Given the description of an element on the screen output the (x, y) to click on. 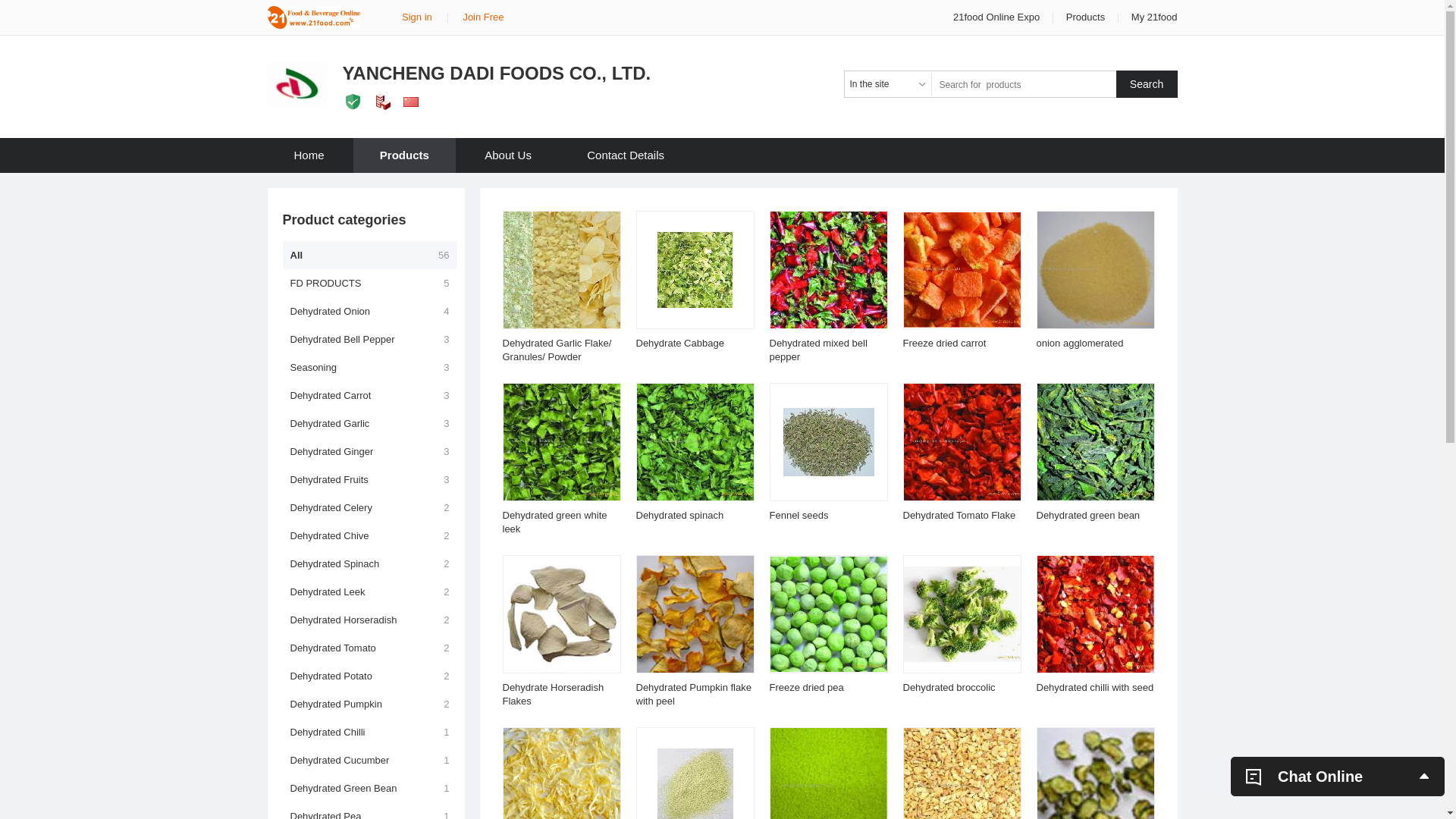
About Us Element type: text (508, 155)
Dehydrated spinach Element type: text (679, 514)
Products Element type: text (1085, 16)
Dehydrated broccolic Element type: text (948, 687)
Sign in Element type: text (416, 16)
21food Online Expo Element type: text (997, 16)
Dehydrate Horseradish Flakes Element type: text (552, 693)
Dehydrated chilli with seed Element type: text (1094, 687)
Dehydrated Pumpkin flake with peel Element type: text (692, 693)
Fennel seeds Element type: text (798, 514)
My 21food Element type: text (1154, 16)
Dehydrated green white leek Element type: text (554, 521)
Products Element type: text (404, 155)
Dehydrated Garlic Flake/ Granules/ Powder Element type: text (556, 349)
Join Free Element type: text (482, 16)
Contact Details Element type: text (625, 155)
Search Element type: text (1146, 83)
onion agglomerated Element type: text (1079, 342)
Dehydrate Cabbage Element type: text (679, 342)
Dehydrated Tomato Flake Element type: text (958, 514)
Dehydrated green bean Element type: text (1087, 514)
Freeze dried carrot Element type: text (943, 342)
Dehydrated mixed bell pepper Element type: text (817, 349)
Freeze dried pea Element type: text (805, 687)
Home Element type: text (308, 155)
